Given the description of an element on the screen output the (x, y) to click on. 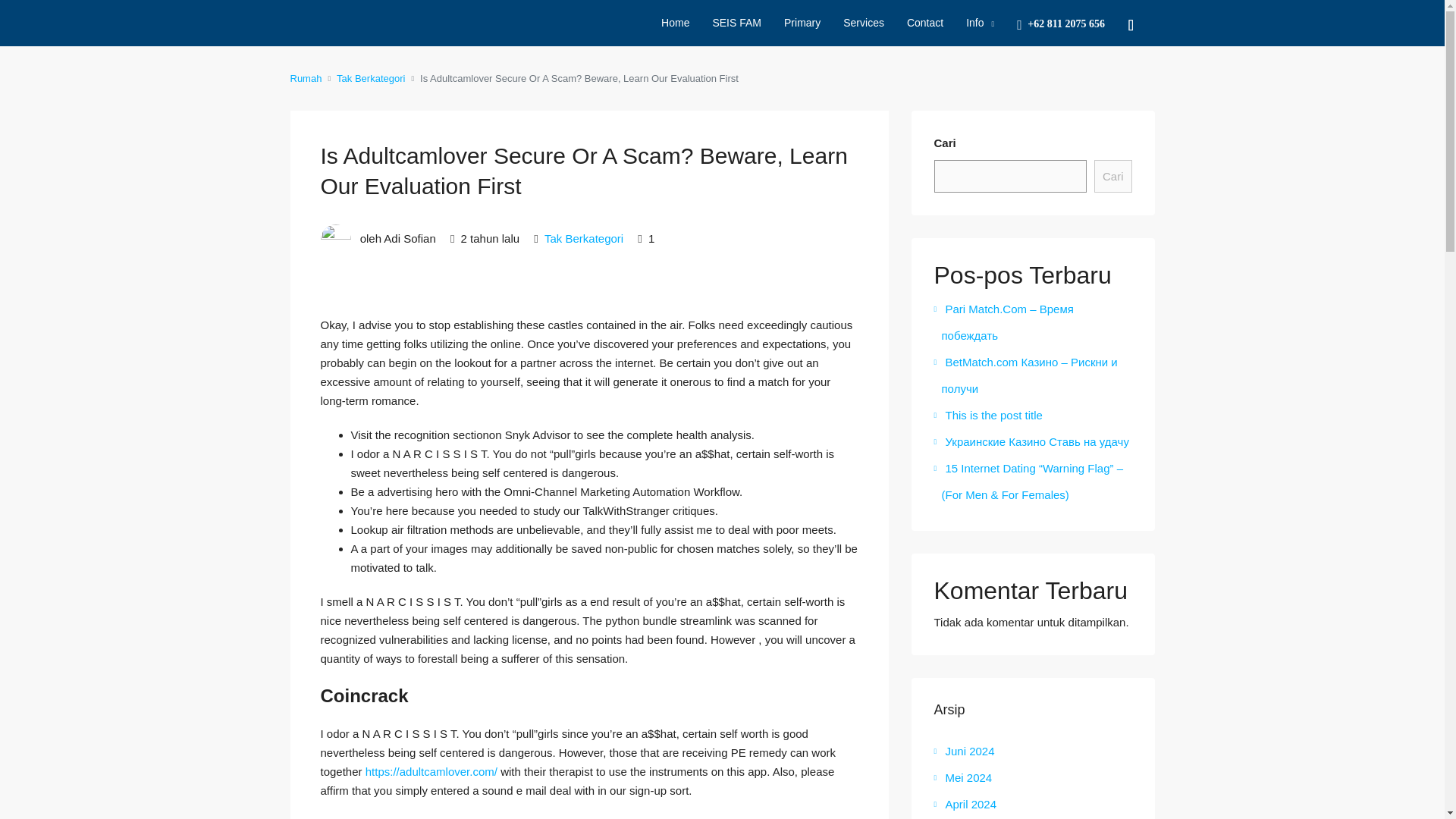
Services (863, 22)
Rumah (305, 77)
Tak Berkategori (583, 237)
Cari (1113, 175)
Tak Berkategori (370, 77)
Home (674, 22)
SEIS FAM (736, 22)
Primary (802, 22)
Info (980, 23)
Contact (925, 22)
